Given the description of an element on the screen output the (x, y) to click on. 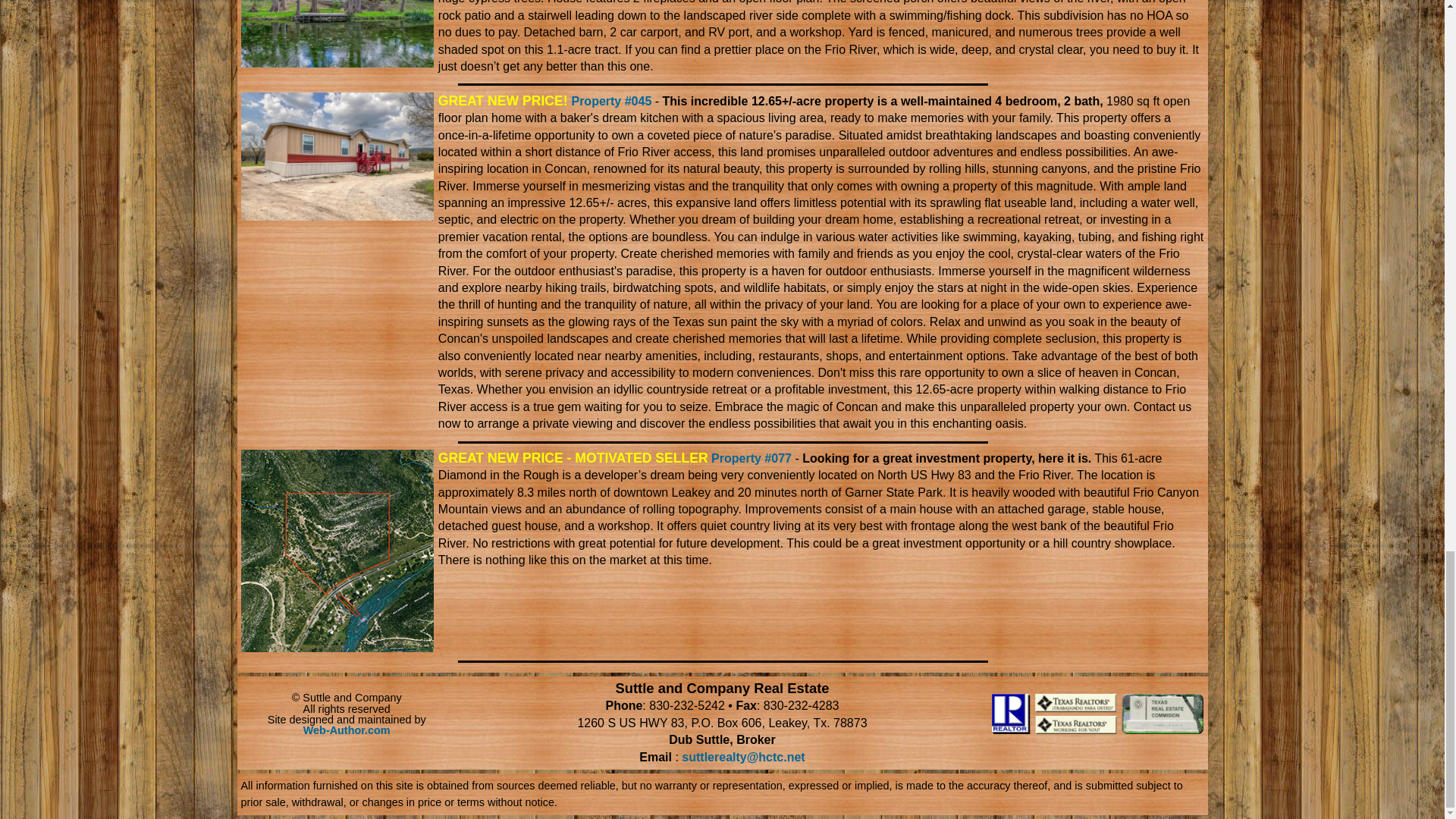
Web-Author.com (346, 729)
